Given the description of an element on the screen output the (x, y) to click on. 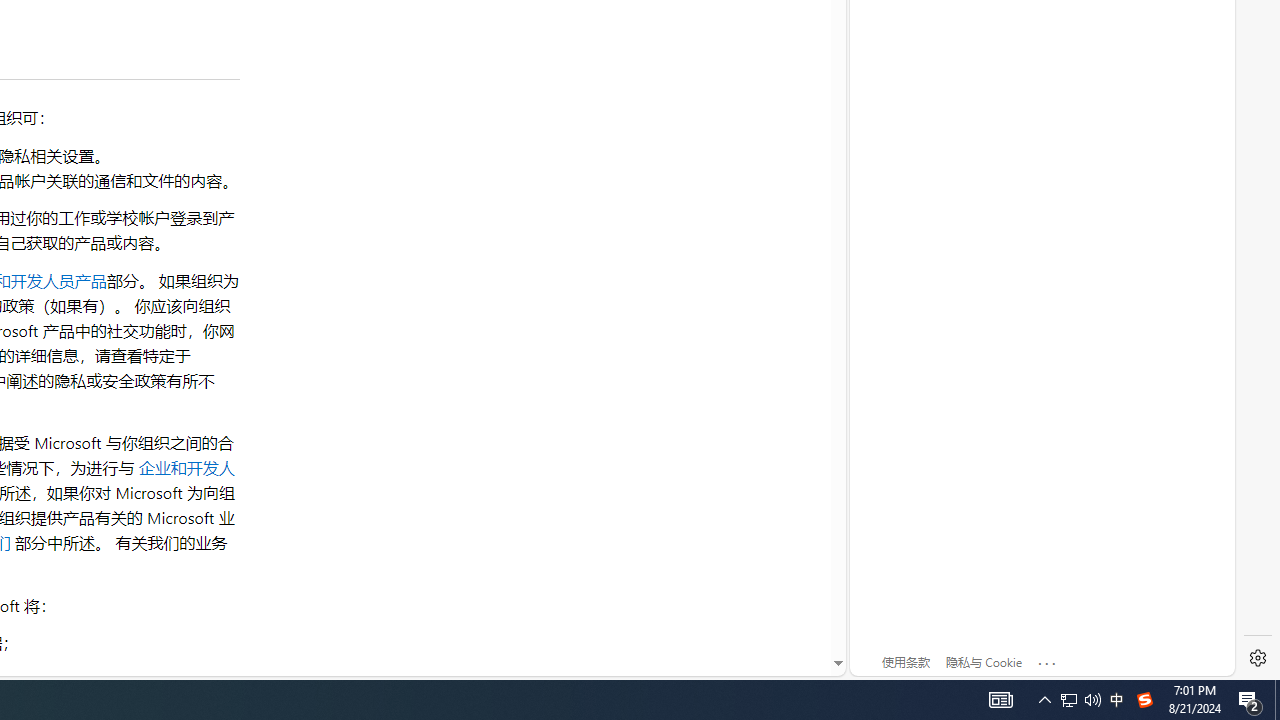
Tray Input Indicator - Chinese (Simplified, China) (1144, 699)
AutomationID: 4105 (1000, 699)
Action Center, 2 new notifications (1250, 699)
Q2790: 100% (1092, 699)
Show desktop (1277, 699)
User Promoted Notification Area (1069, 699)
Notification Chevron (1080, 699)
